Given the description of an element on the screen output the (x, y) to click on. 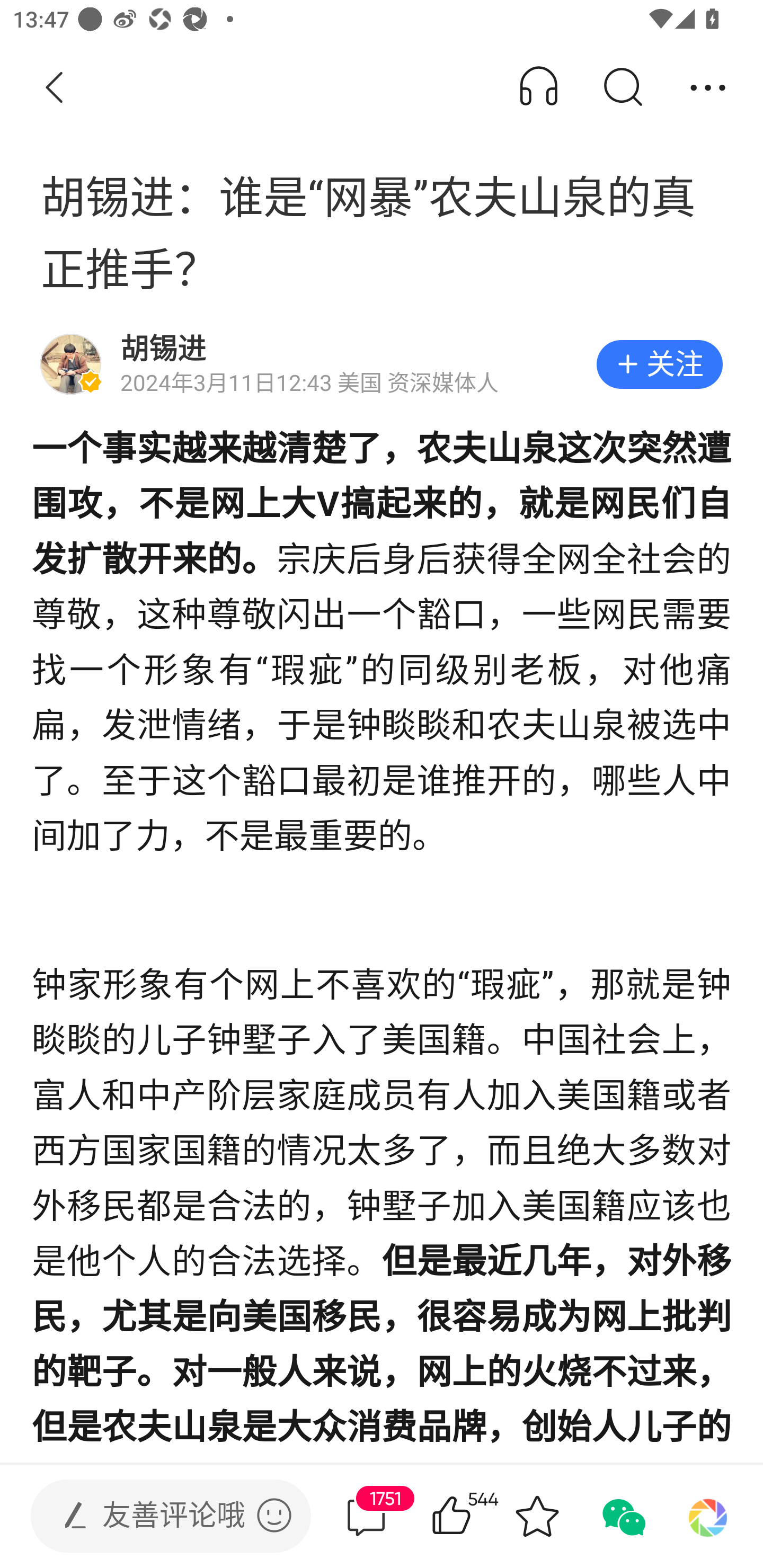
搜索  (622, 87)
分享  (707, 87)
 返回 (54, 87)
胡锡进 2024年3月11日12:43 美国 资深媒体人  关注 (381, 364)
 关注 (659, 364)
发表评论  友善评论哦 发表评论  (155, 1516)
1751评论  1751 评论 (365, 1516)
544赞 (476, 1516)
收藏  (536, 1516)
分享到微信  (622, 1516)
分享到朋友圈 (707, 1516)
 (274, 1515)
